Given the description of an element on the screen output the (x, y) to click on. 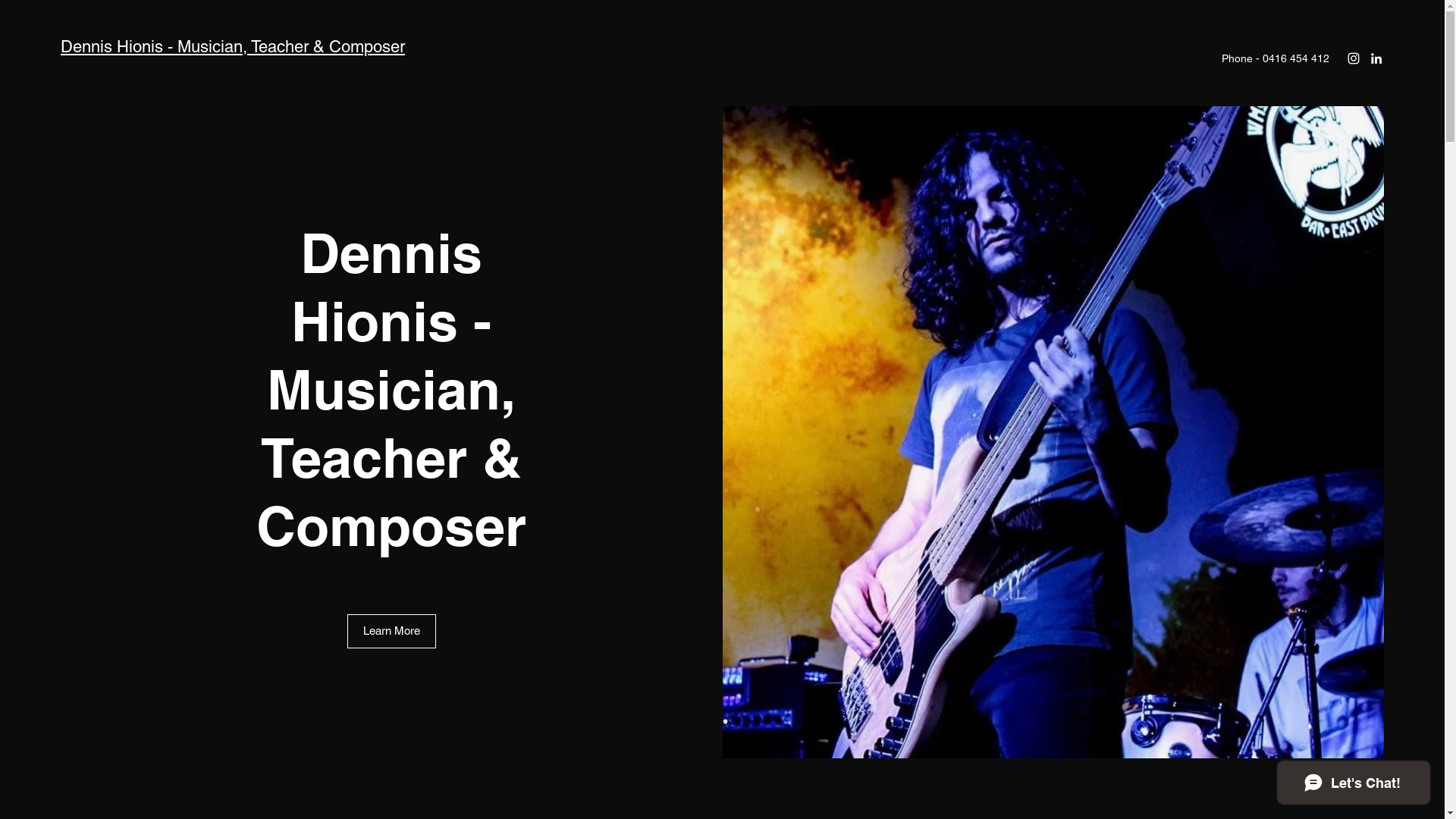
Dennis Hionis - Musician, Teacher & Composer Element type: text (232, 46)
Learn More Element type: text (391, 631)
